Given the description of an element on the screen output the (x, y) to click on. 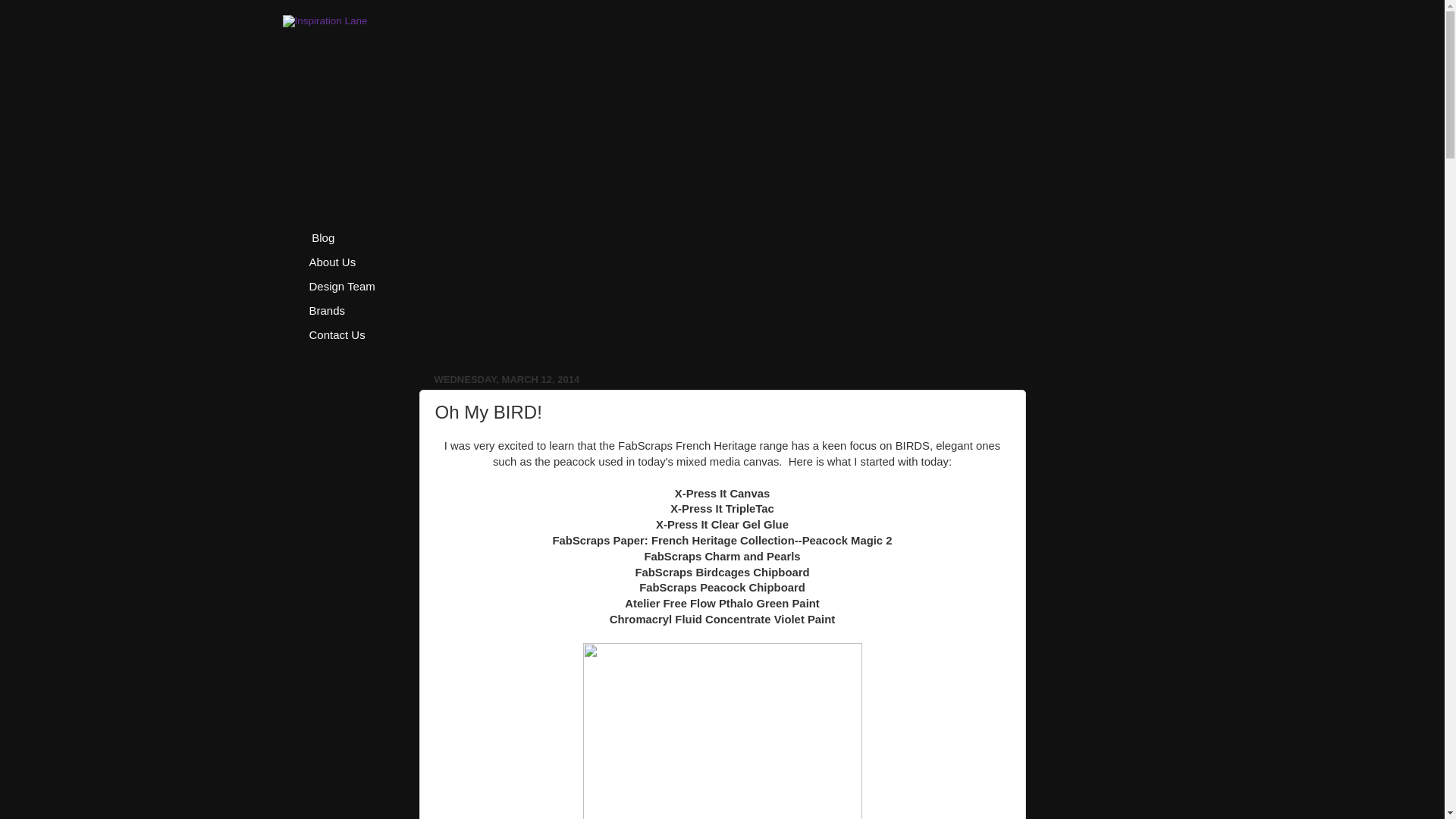
About Us Element type: text (332, 262)
Brands Element type: text (327, 310)
Blog Element type: text (321, 237)
Design Team Element type: text (341, 286)
Contact Us Element type: text (336, 335)
